Given the description of an element on the screen output the (x, y) to click on. 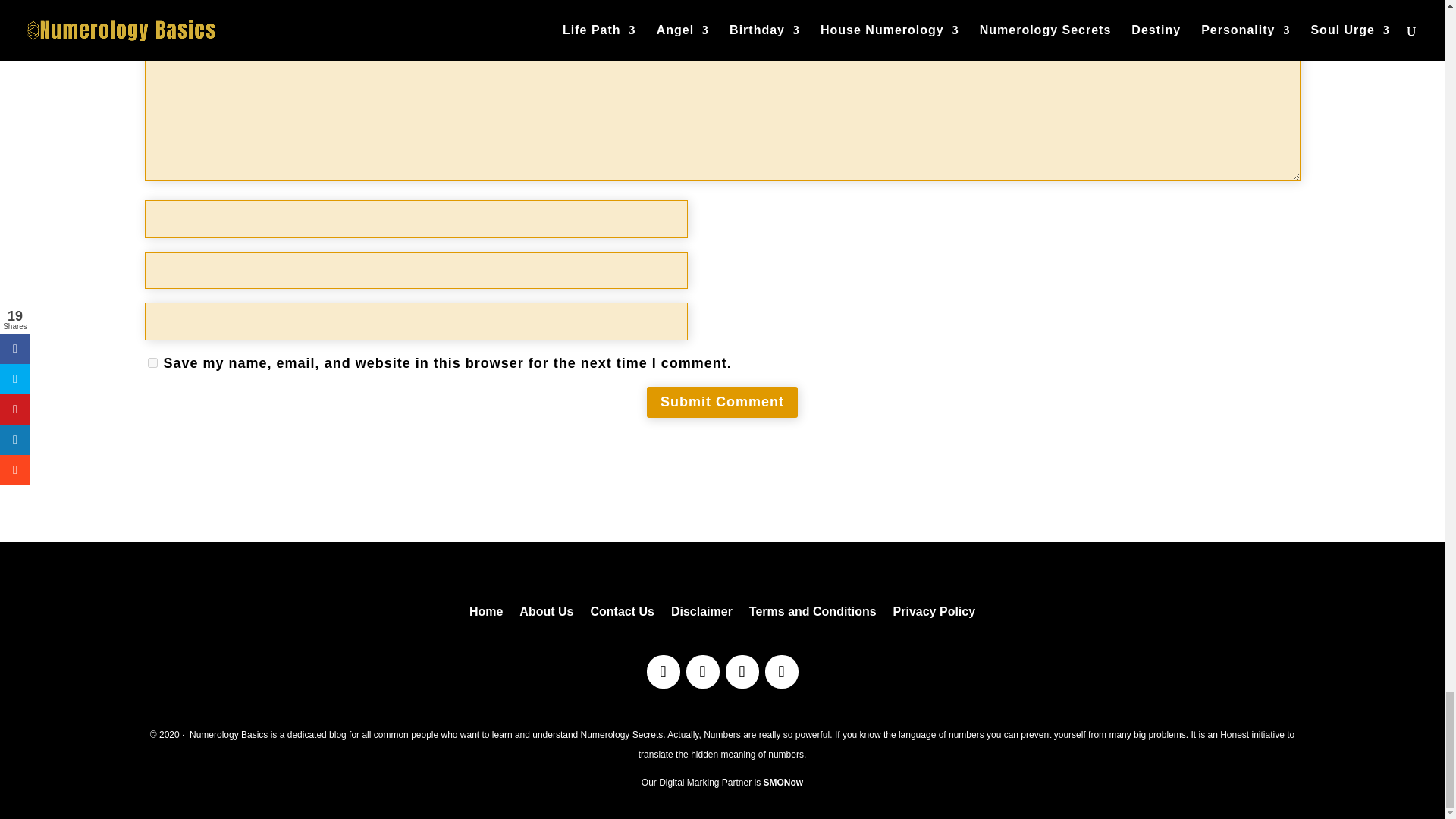
Follow on Facebook (662, 671)
Follow on LinkedIn (702, 671)
yes (152, 362)
Follow on Pinterest (741, 671)
Follow on Youtube (780, 671)
